Given the description of an element on the screen output the (x, y) to click on. 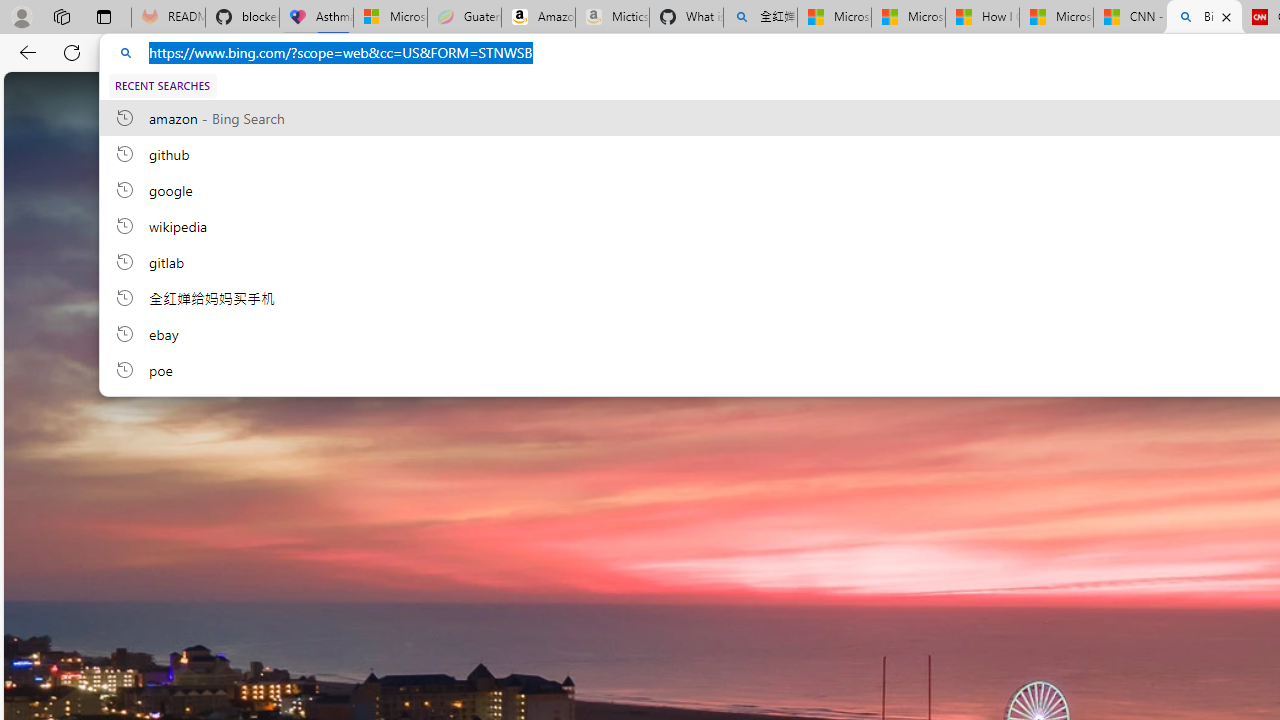
Welcome to Bing Search (291, 96)
Copilot (473, 95)
Copilot (473, 95)
Class: scopes  (707, 95)
Workspaces (61, 16)
View site information (125, 53)
Asthma Inhalers: Names and Types (316, 17)
Refresh (72, 52)
Back (24, 52)
Tab actions menu (104, 16)
How I Got Rid of Microsoft Edge's Unnecessary Features (981, 17)
Images (562, 95)
